Given the description of an element on the screen output the (x, y) to click on. 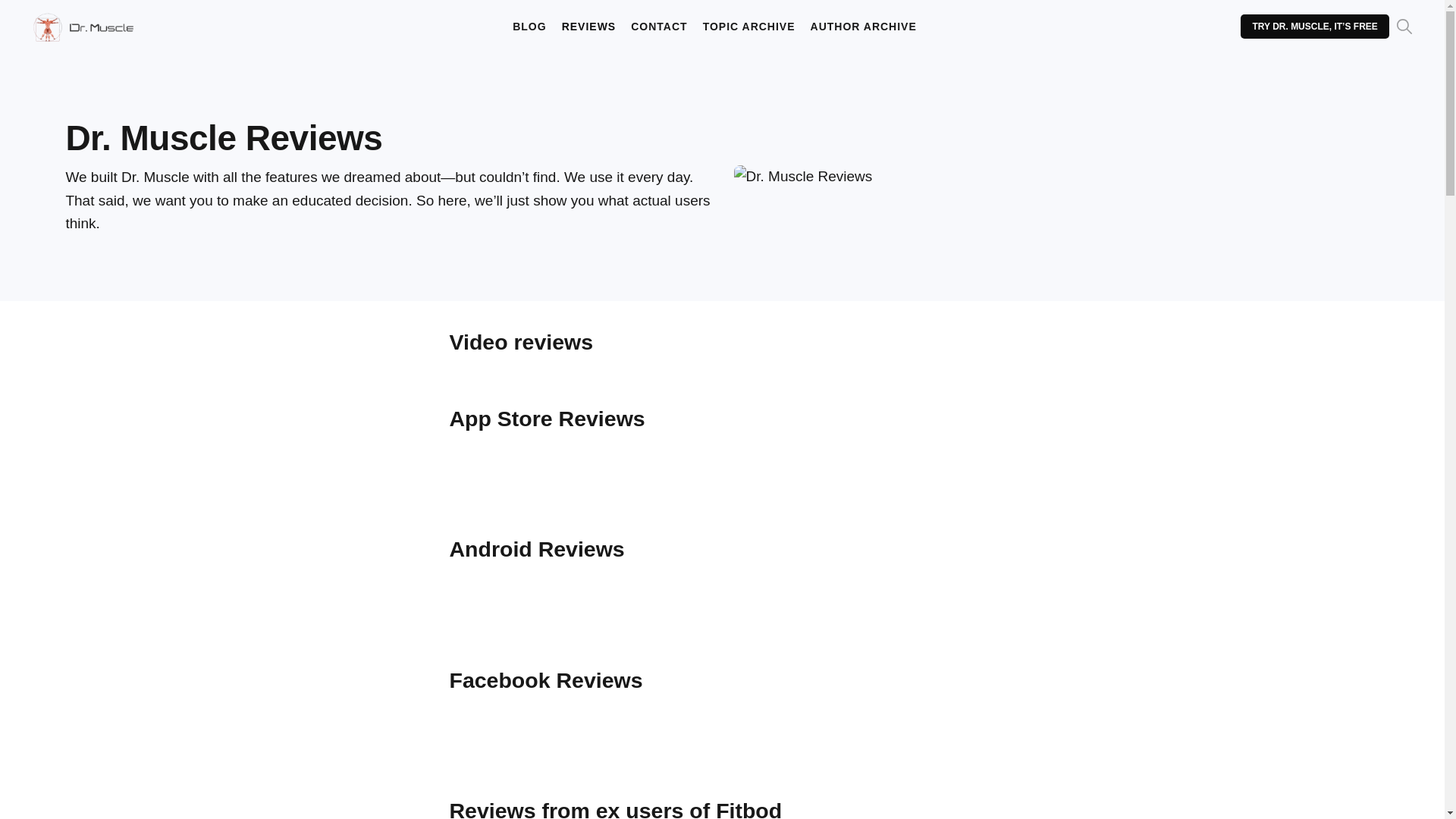
BLOG (529, 26)
TOPIC ARCHIVE (748, 26)
REVIEWS (588, 26)
CONTACT (658, 26)
AUTHOR ARCHIVE (863, 26)
